Given the description of an element on the screen output the (x, y) to click on. 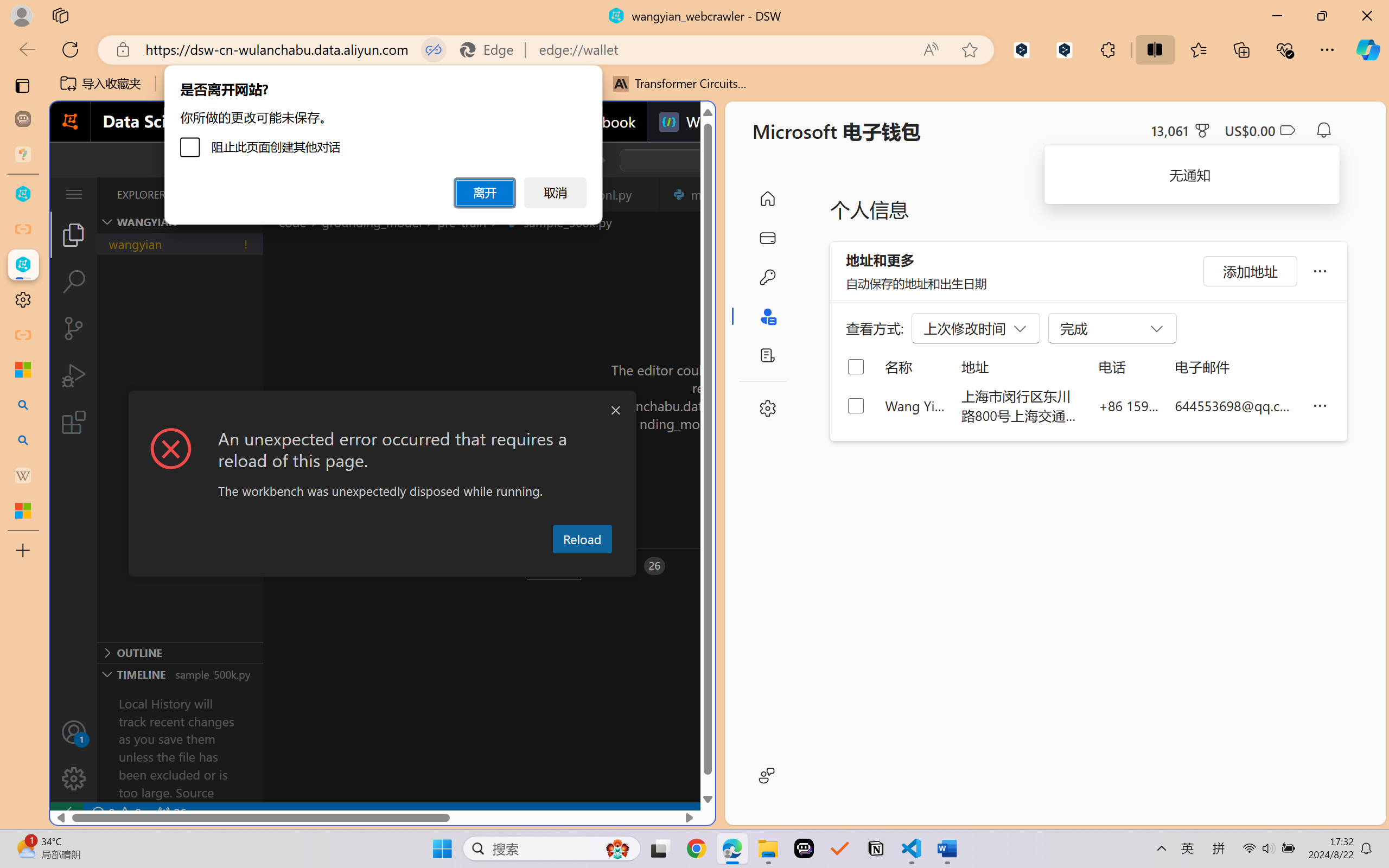
Search (Ctrl+Shift+F) (73, 281)
wangyian_dsw - DSW (22, 194)
Terminal actions (1002, 565)
Run and Debug (Ctrl+Shift+D) (73, 375)
Debug Console (Ctrl+Shift+Y) (463, 565)
wangyian_webcrawler - DSW (22, 264)
